Given the description of an element on the screen output the (x, y) to click on. 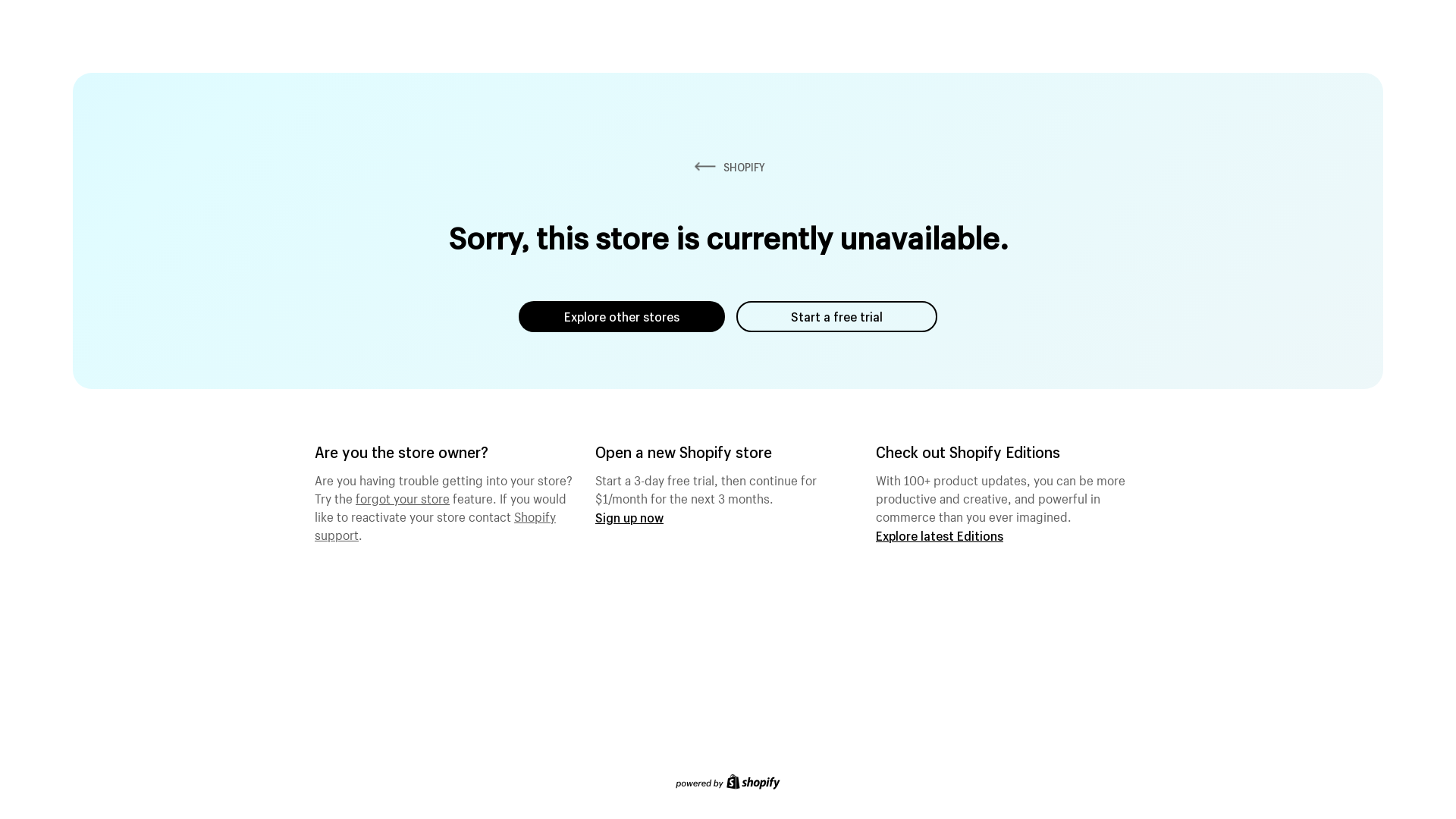
forgot your store Element type: text (402, 496)
Explore other stores Element type: text (621, 316)
Start a free trial Element type: text (836, 316)
Explore latest Editions Element type: text (939, 535)
SHOPIFY Element type: text (727, 167)
Shopify support Element type: text (434, 523)
Sign up now Element type: text (629, 517)
